Given the description of an element on the screen output the (x, y) to click on. 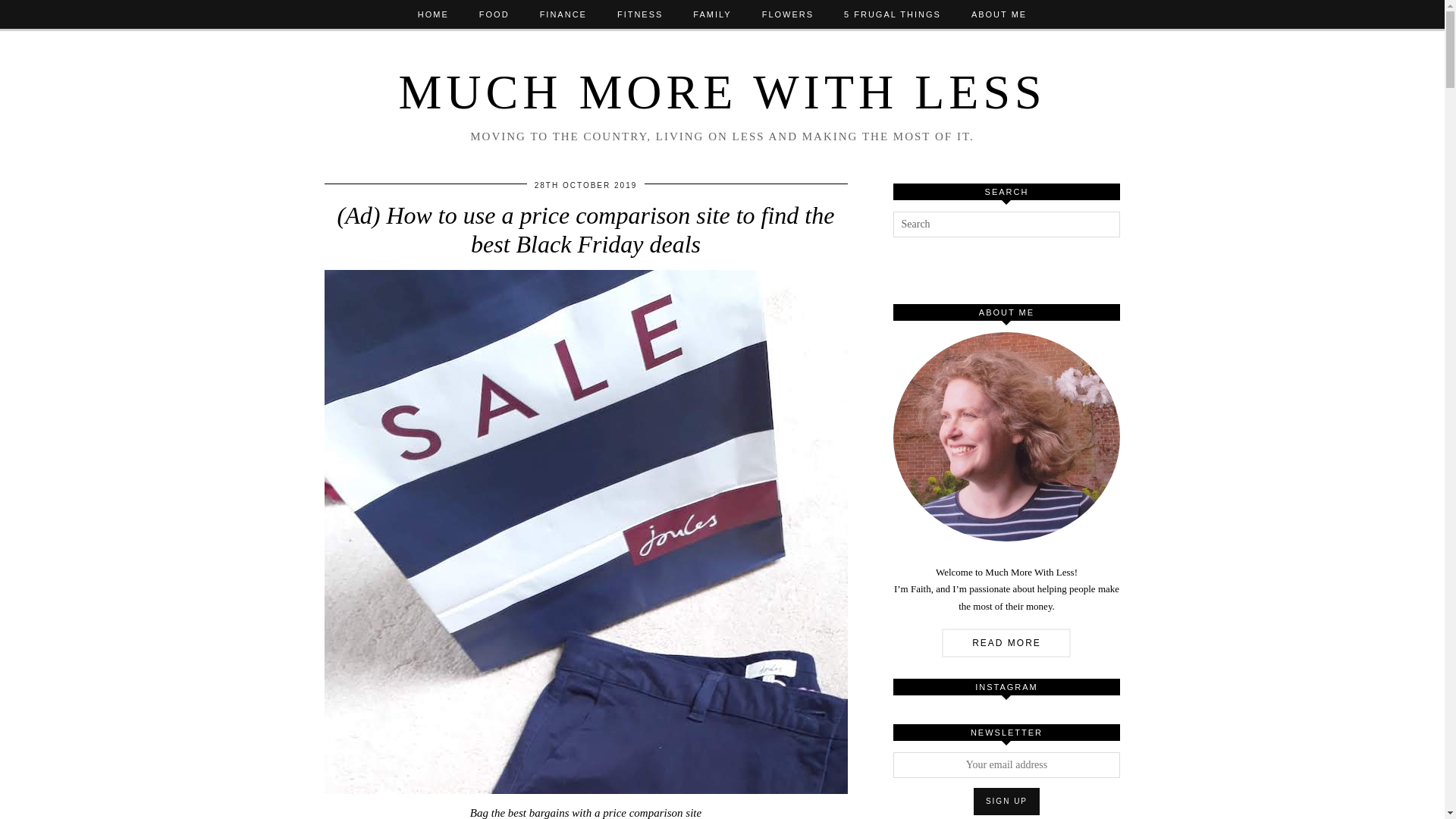
HOME (433, 14)
FOOD (494, 14)
ABOUT ME (999, 14)
MUCH MORE WITH LESS (721, 91)
5 FRUGAL THINGS (892, 14)
Much More With Less (721, 91)
Sign up (1006, 800)
FITNESS (640, 14)
FAMILY (711, 14)
FINANCE (563, 14)
FLOWERS (787, 14)
